Given the description of an element on the screen output the (x, y) to click on. 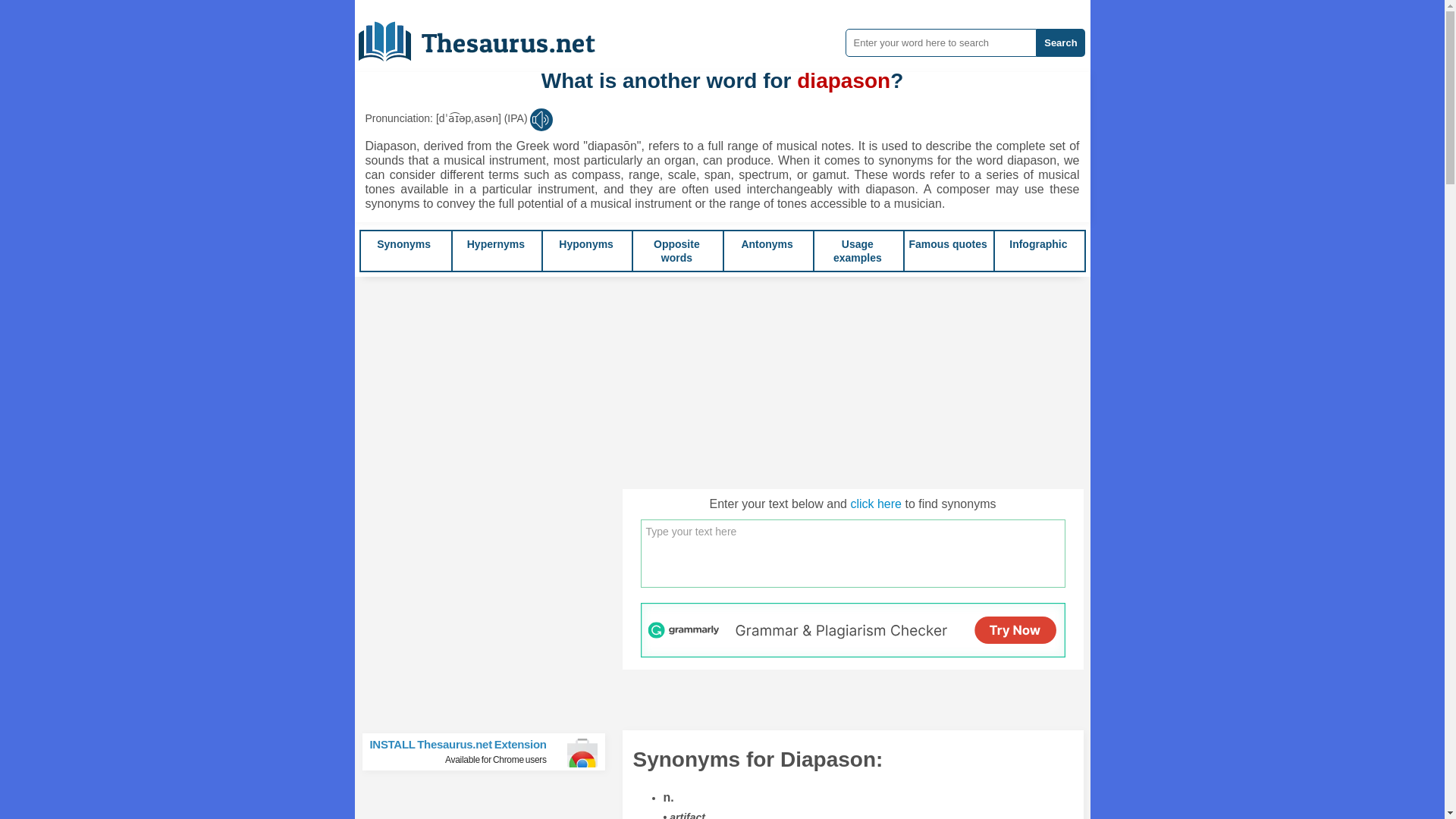
Synonyms (403, 244)
Opposite words (676, 250)
click here (875, 503)
Famous quotes (947, 244)
Search (1060, 42)
Infographic (1038, 244)
Thesaurus.net (487, 35)
Hypernyms (489, 751)
Hyponyms (495, 244)
